Given the description of an element on the screen output the (x, y) to click on. 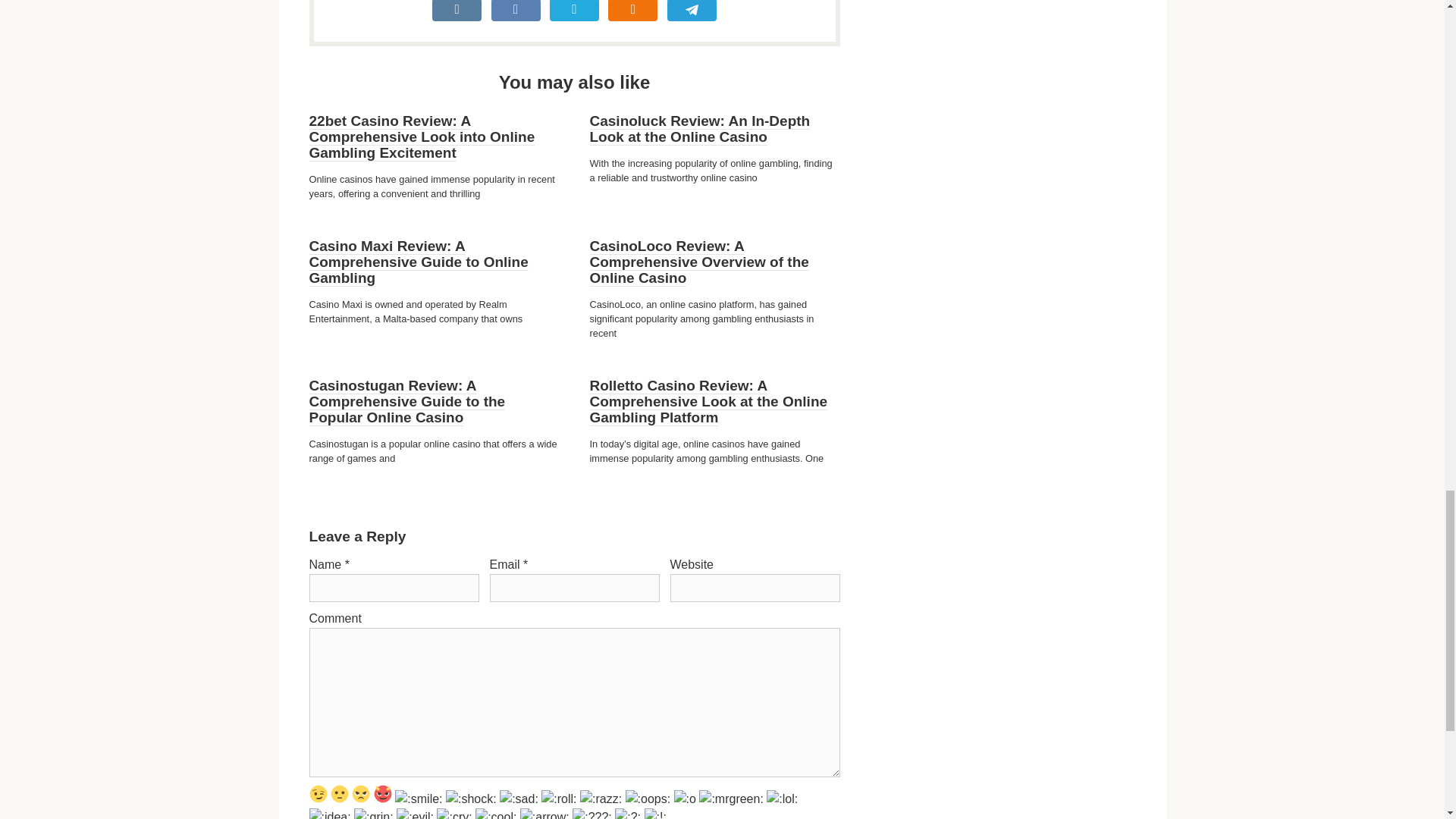
Casinoluck Review: An In-Depth Look at the Online Casino (699, 129)
Casino Maxi Review: A Comprehensive Guide to Online Gambling (418, 262)
